Given the description of an element on the screen output the (x, y) to click on. 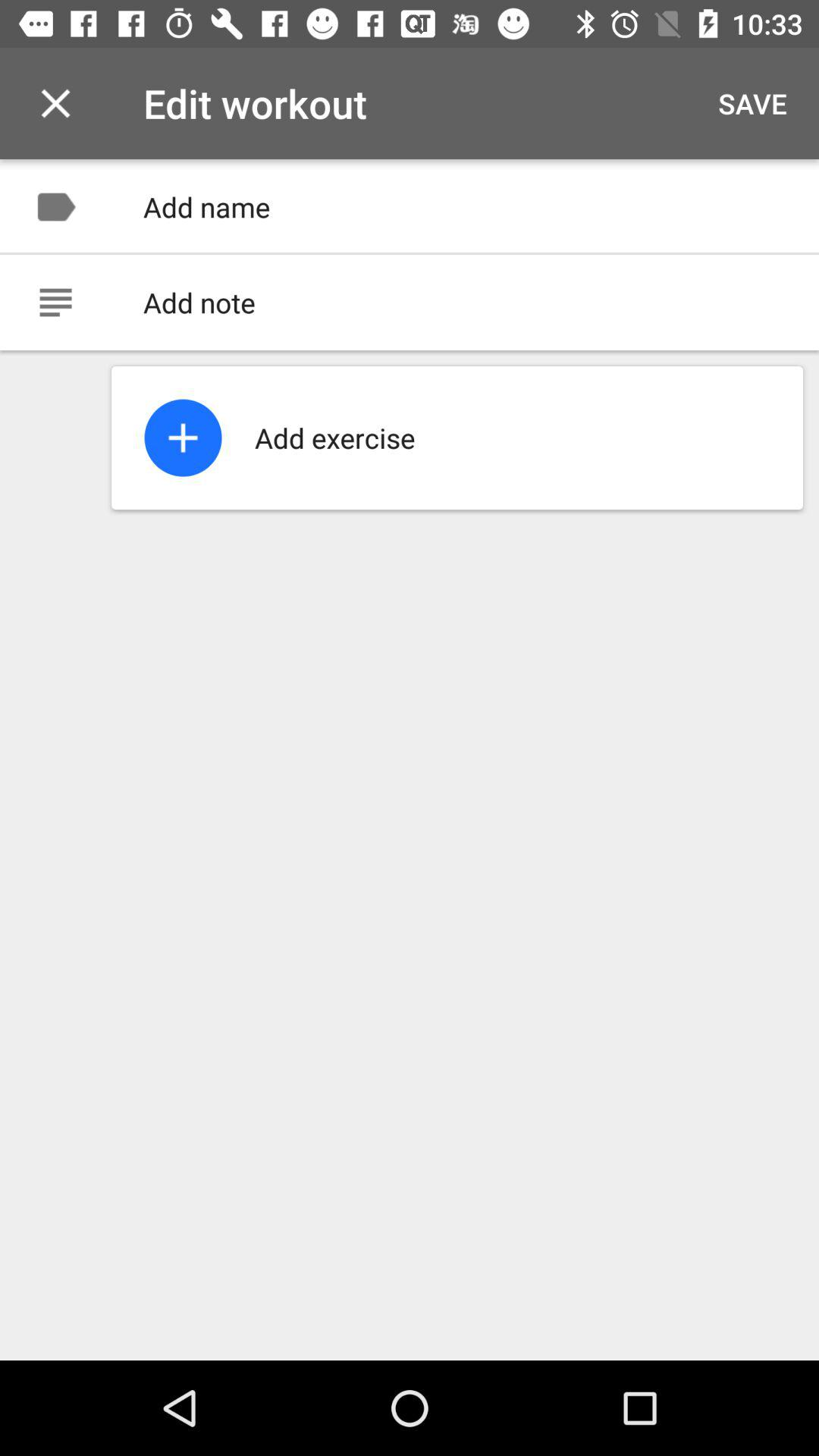
tap the item at the top right corner (752, 103)
